Given the description of an element on the screen output the (x, y) to click on. 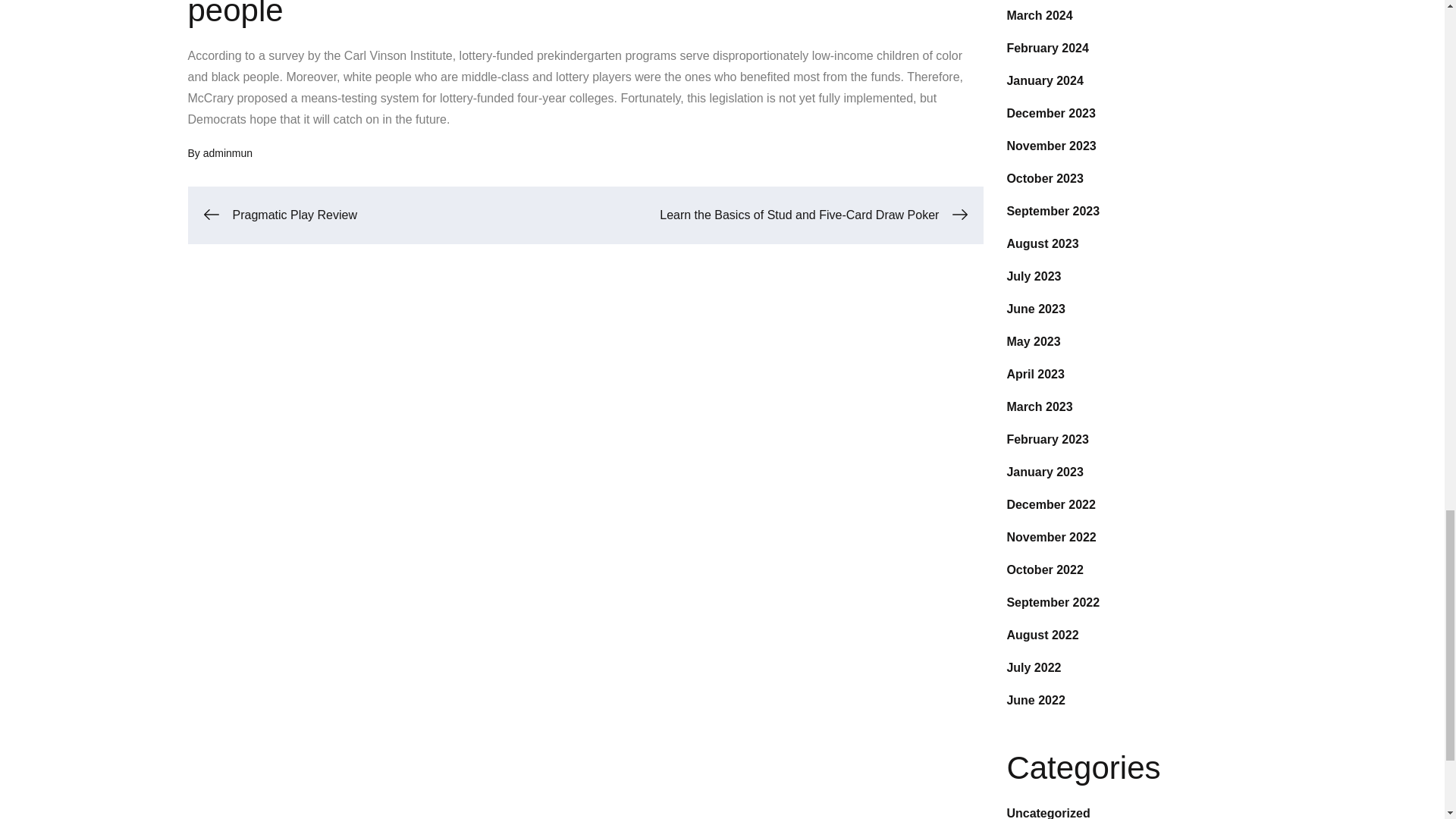
June 2023 (1035, 308)
December 2023 (1050, 113)
May 2023 (1032, 341)
March 2024 (1038, 15)
December 2022 (1050, 504)
November 2023 (1051, 145)
adminmun (227, 152)
March 2023 (1038, 406)
August 2023 (1042, 243)
October 2022 (1044, 569)
January 2023 (1044, 472)
February 2023 (1047, 439)
April 2023 (1035, 373)
July 2023 (1033, 276)
January 2024 (1044, 80)
